Given the description of an element on the screen output the (x, y) to click on. 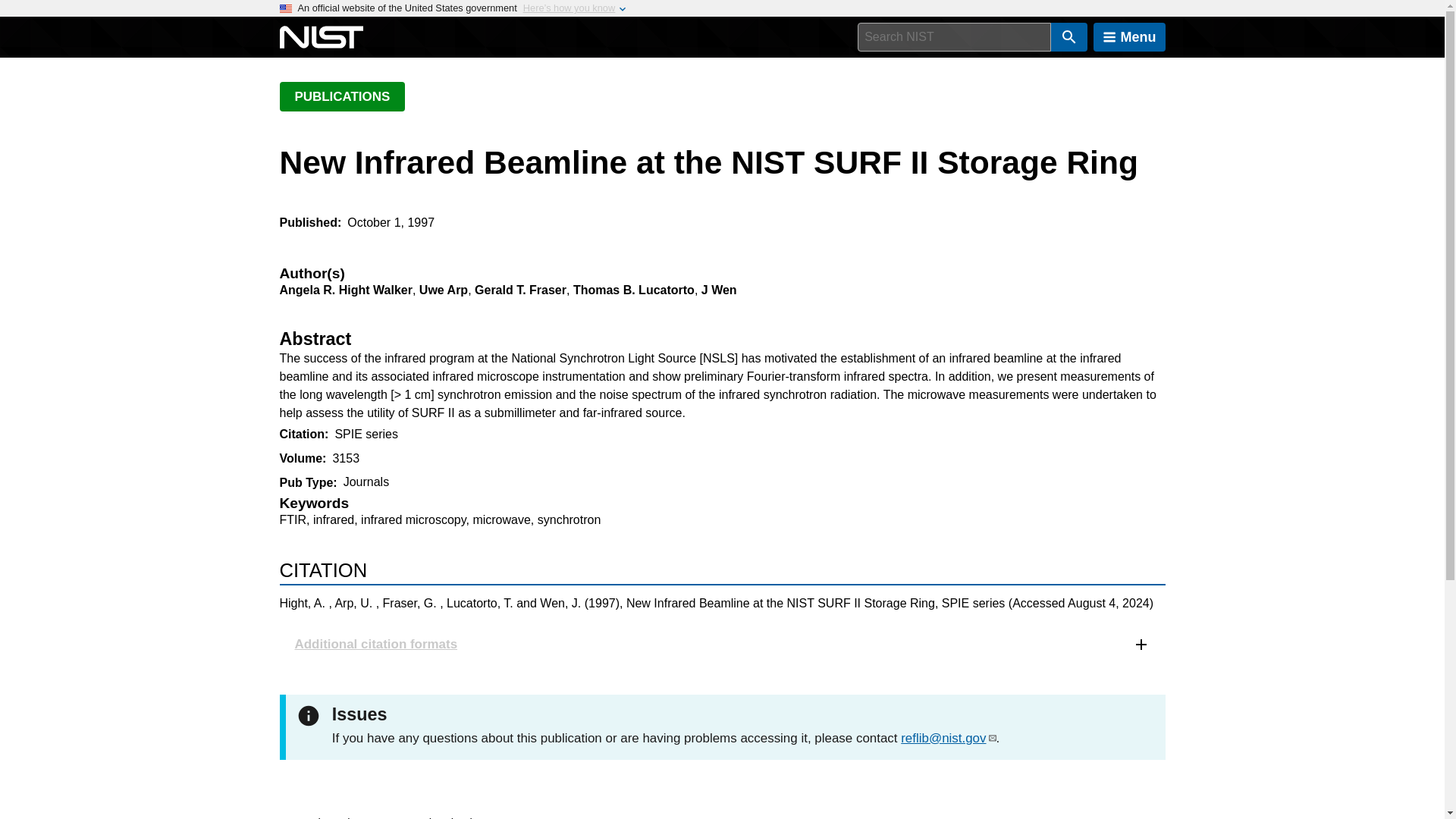
National Institute of Standards and Technology (320, 36)
PUBLICATIONS (341, 96)
Additional citation formats (721, 643)
Menu (1129, 36)
